Given the description of an element on the screen output the (x, y) to click on. 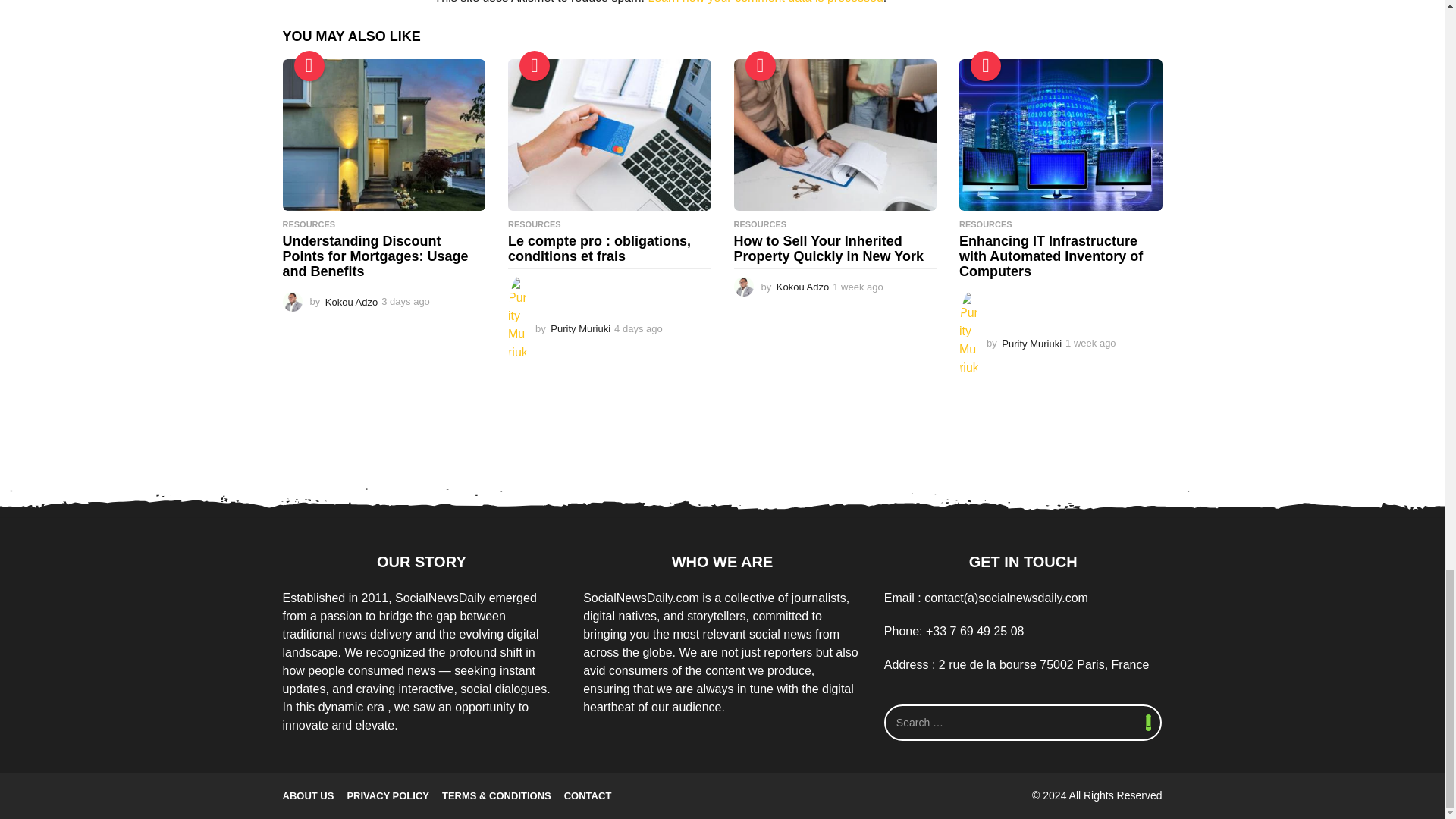
Le compte pro : obligations, conditions et frais (609, 134)
Hot (759, 65)
Trending (534, 65)
How to Sell Your Inherited Property Quickly in New York (835, 134)
Hot (986, 65)
Trending (309, 65)
Learn how your comment data is processed (764, 2)
